Given the description of an element on the screen output the (x, y) to click on. 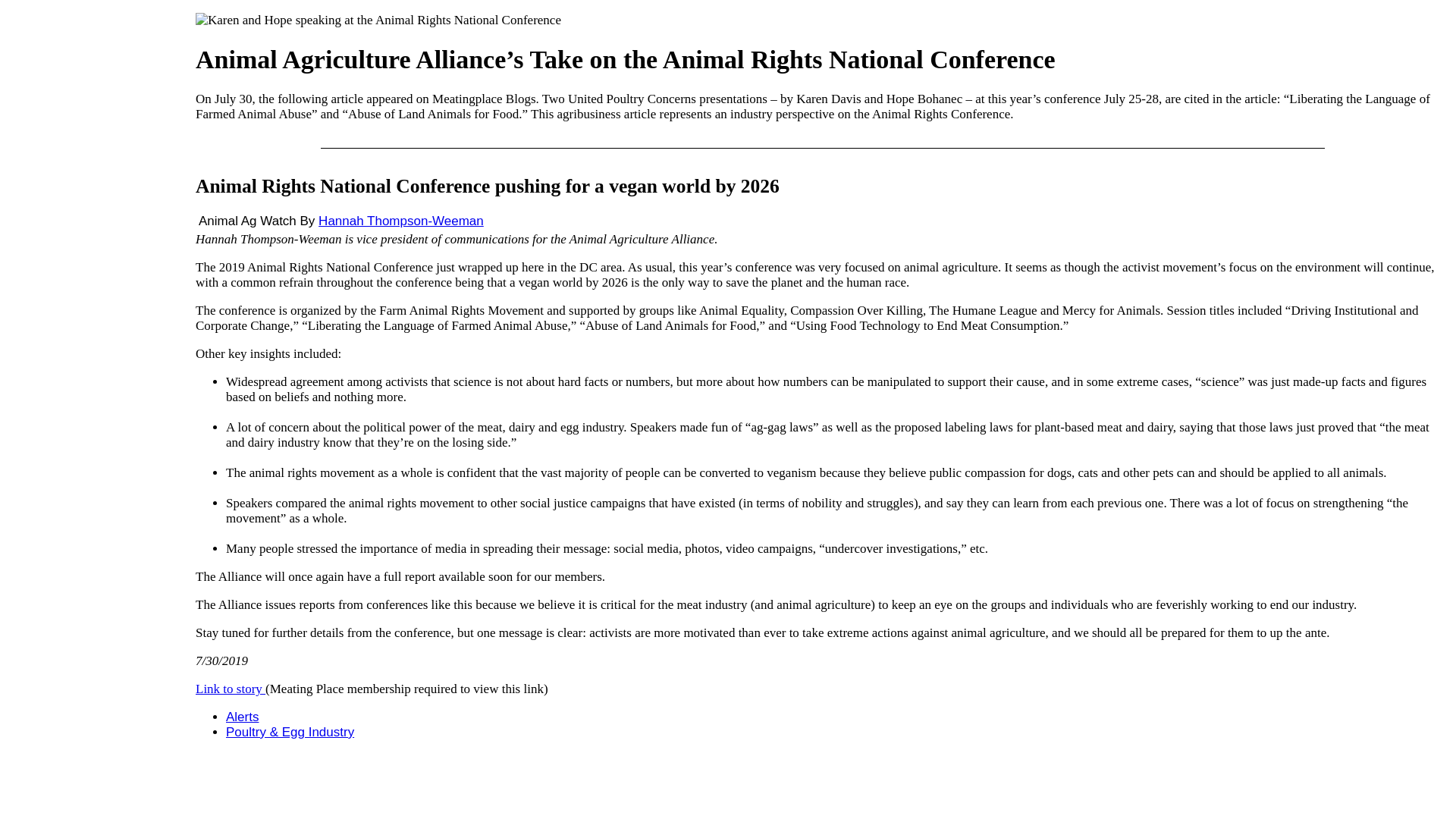
Alerts (242, 716)
Link to story (229, 688)
Hannah Thompson-Weeman (400, 220)
